Given the description of an element on the screen output the (x, y) to click on. 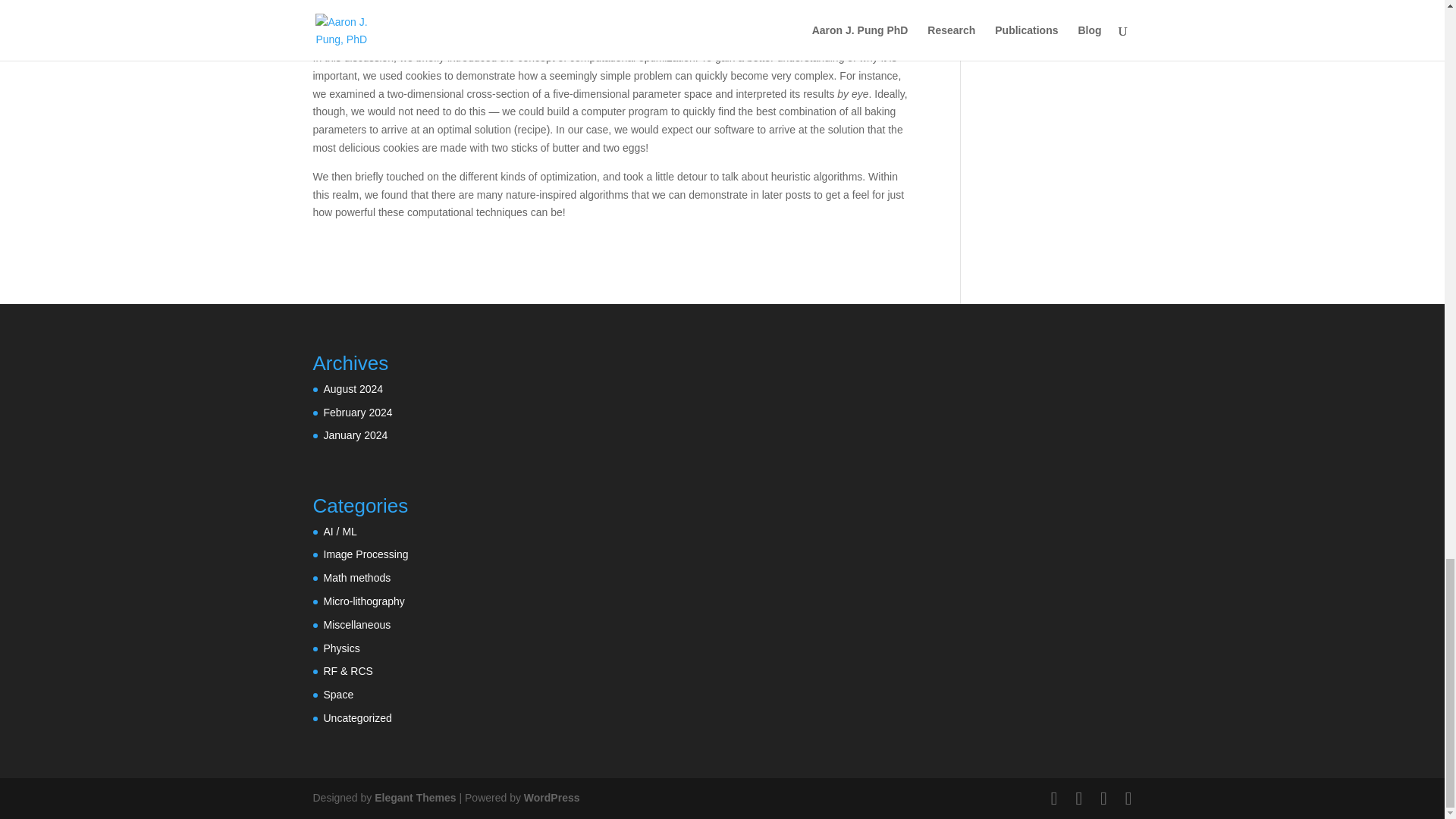
Physics (341, 648)
February 2024 (357, 412)
Premium WordPress Themes (414, 797)
January 2024 (355, 435)
Image Processing (365, 553)
Elegant Themes (414, 797)
Space (338, 694)
Micro-lithography (363, 601)
WordPress (551, 797)
Uncategorized (357, 717)
